Given the description of an element on the screen output the (x, y) to click on. 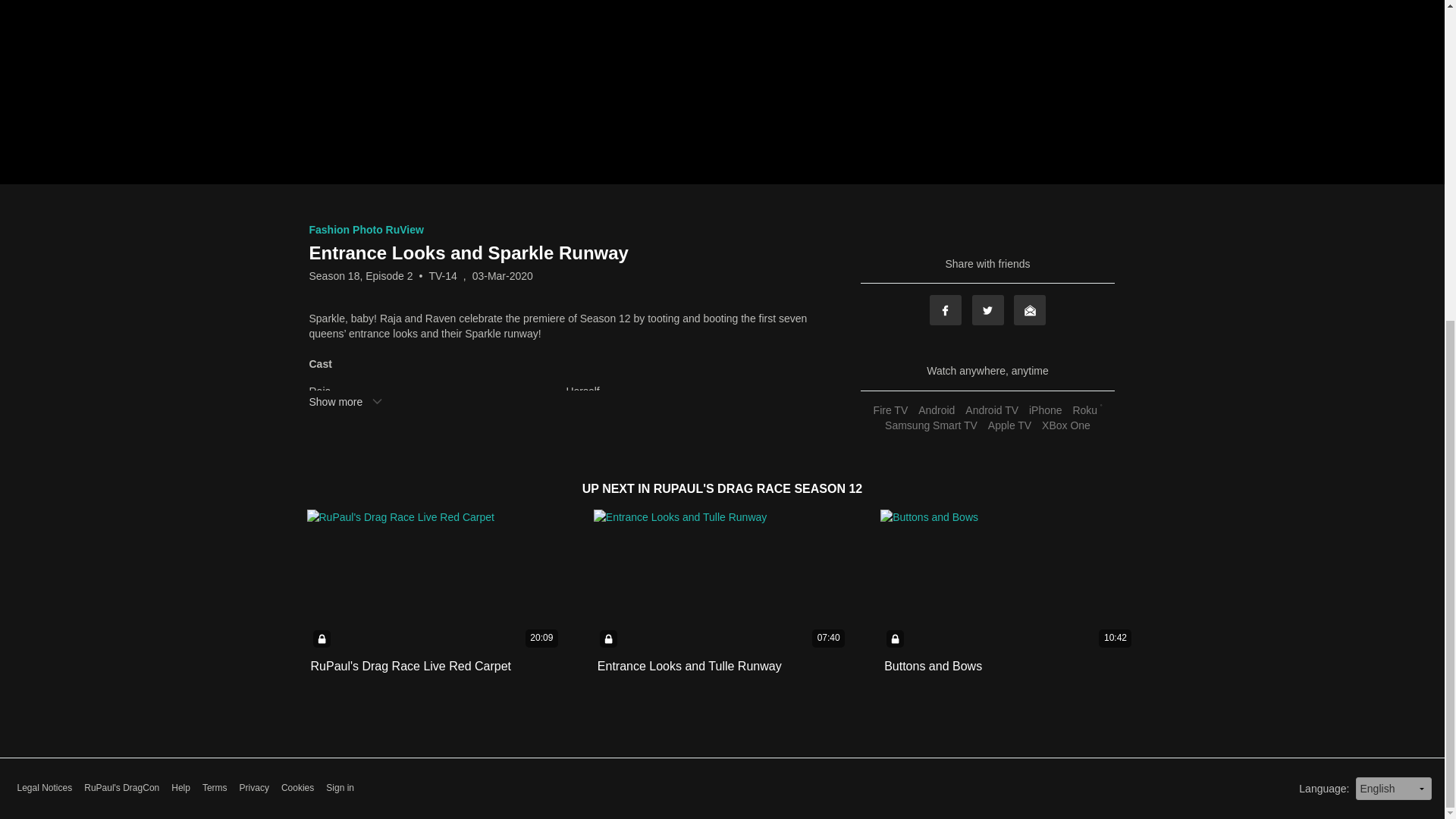
Android TV (991, 410)
Apple TV (1009, 425)
Android (936, 410)
Email (1029, 309)
03-Mar-2020 (501, 275)
Entrance Looks and Tulle Runway (688, 666)
RuPaul's Drag Race Live Red Carpet (411, 666)
Twitter (988, 309)
Season 18, Episode 2 (360, 275)
iPhone (1045, 410)
